Given the description of an element on the screen output the (x, y) to click on. 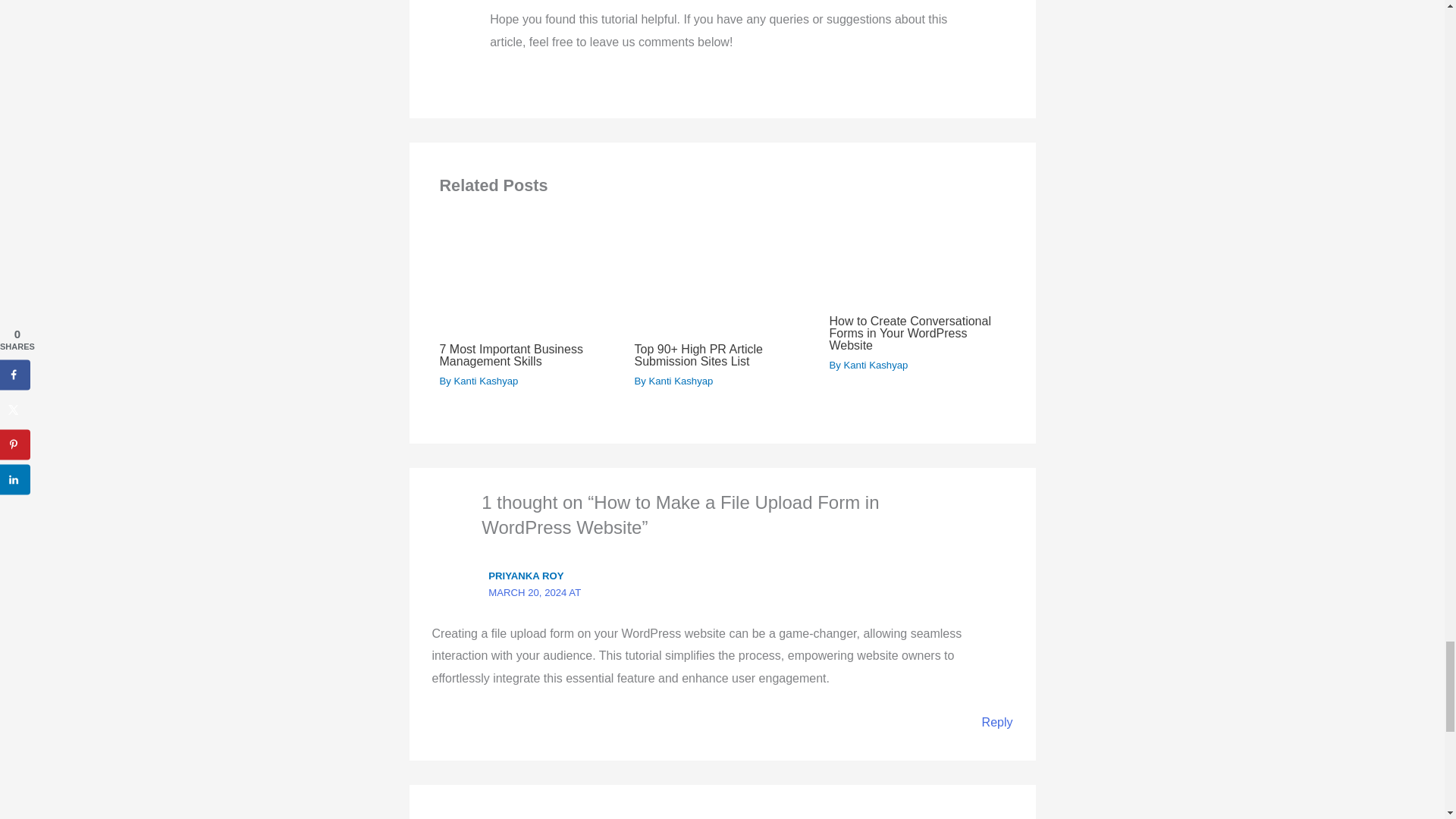
7 Most Important Business Management Skills (511, 355)
Kanti Kashyap (681, 380)
Kanti Kashyap (486, 380)
Kanti Kashyap (876, 365)
View all posts by Kanti Kashyap (681, 380)
View all posts by Kanti Kashyap (486, 380)
MARCH 20, 2024 AT (533, 592)
How to Create Conversational Forms in Your WordPress Website (910, 333)
View all posts by Kanti Kashyap (876, 365)
